Given the description of an element on the screen output the (x, y) to click on. 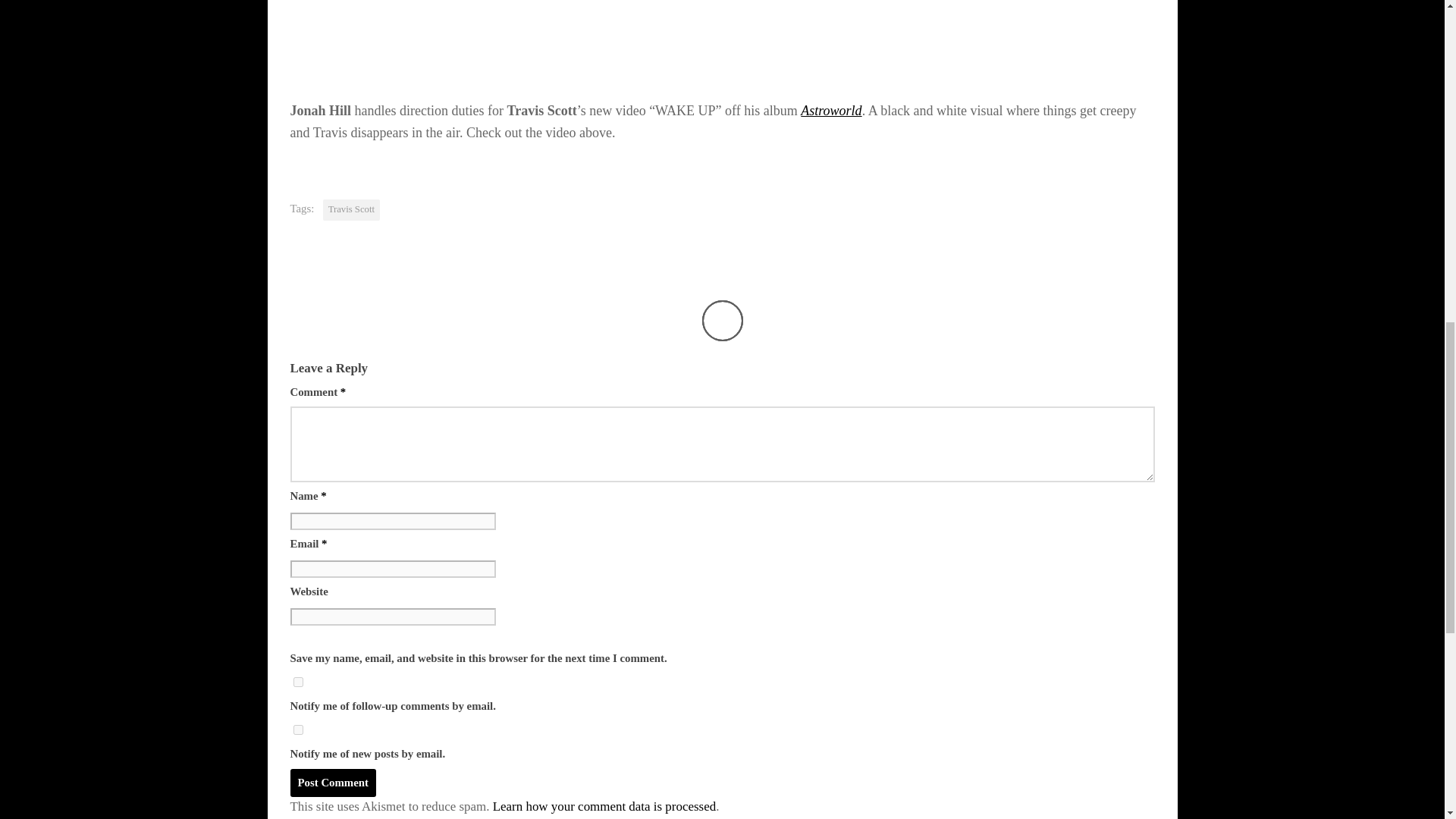
subscribe (297, 729)
Astroworld (830, 110)
subscribe (297, 682)
Travis Scott (351, 209)
Post Comment (332, 782)
Learn how your comment data is processed (604, 806)
Post Comment (332, 782)
